Given the description of an element on the screen output the (x, y) to click on. 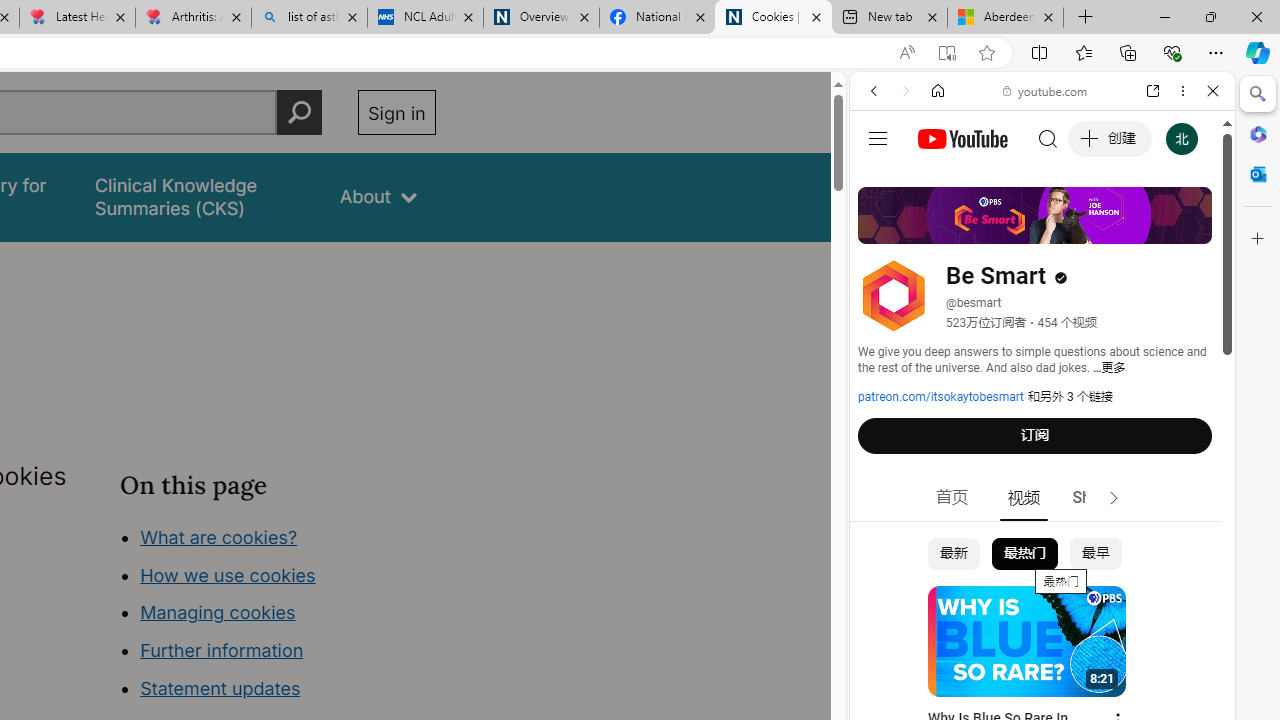
Class: style-scope tp-yt-iron-icon (1114, 498)
Trailer #2 [HD] (1042, 592)
